Given the description of an element on the screen output the (x, y) to click on. 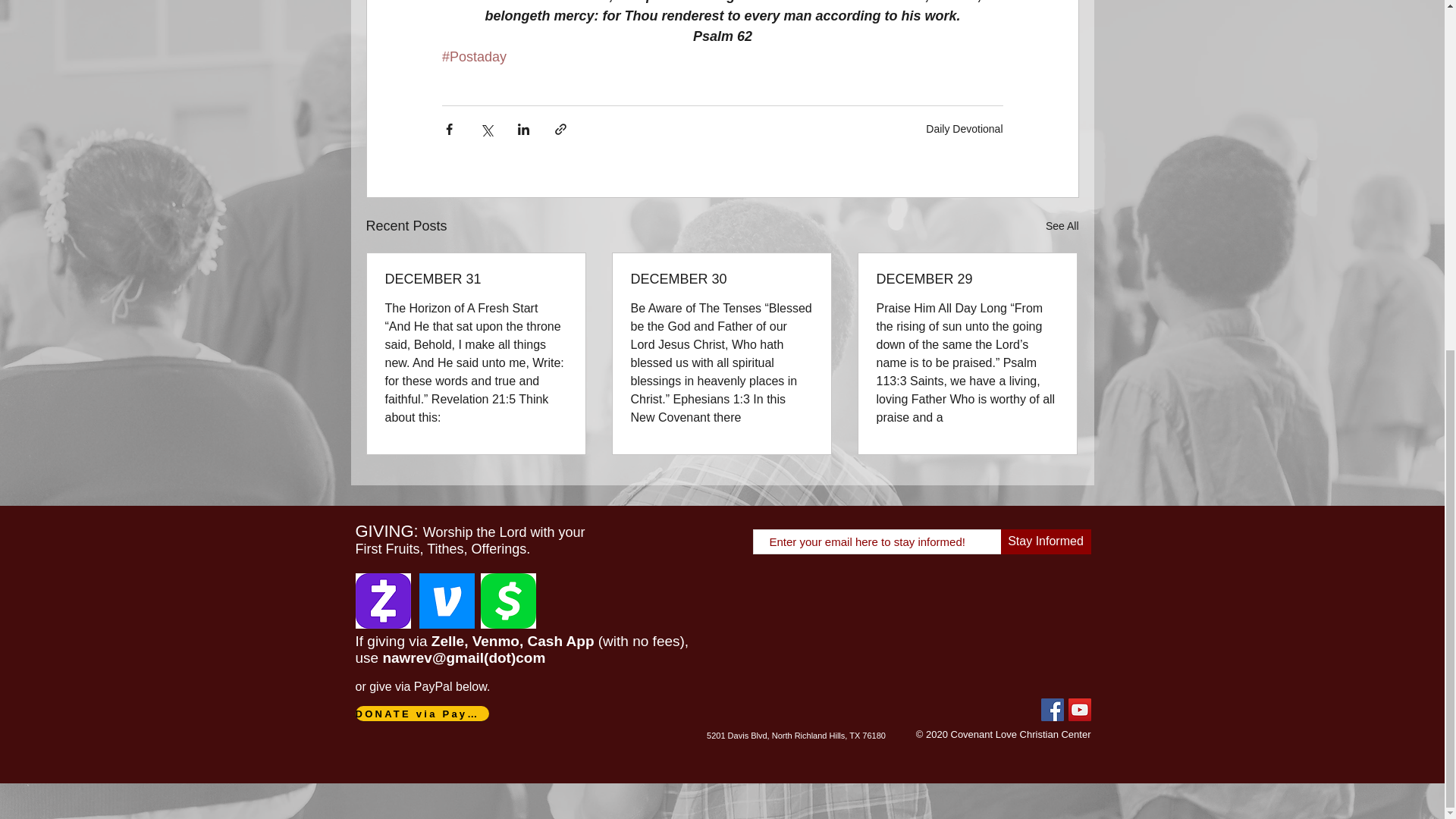
See All (1061, 226)
Daily Devotional (964, 128)
DONATE via PayPal (421, 713)
Stay Informed (1045, 541)
DECEMBER 31 (476, 279)
DECEMBER 29 (967, 279)
Unknown-3.png (507, 600)
Unknown.png (446, 600)
Unknown-4.png (382, 600)
DECEMBER 30 (721, 279)
